Given the description of an element on the screen output the (x, y) to click on. 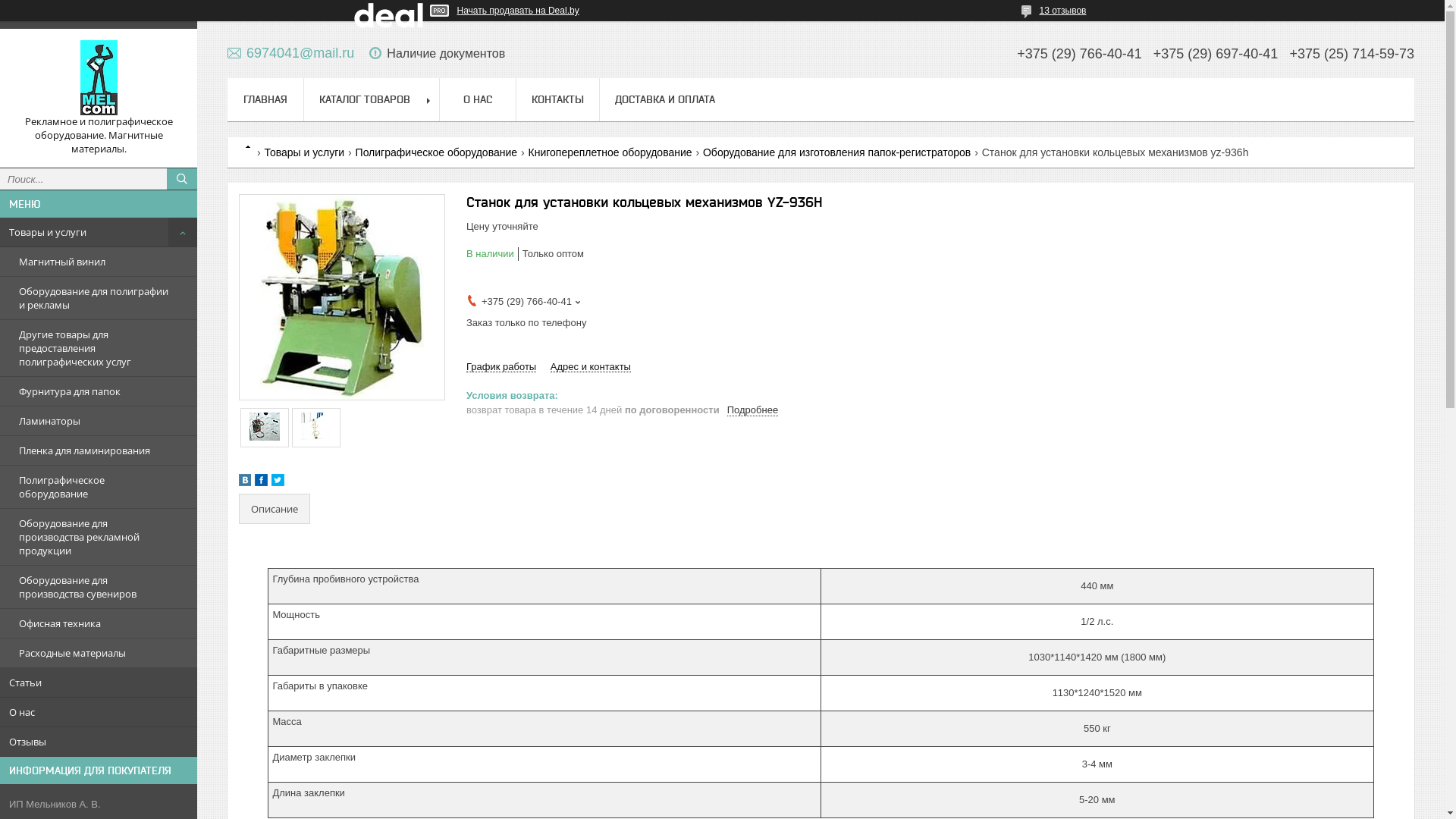
facebook Element type: hover (260, 482)
6974041@mail.ru Element type: text (290, 52)
twitter Element type: hover (277, 482)
